Given the description of an element on the screen output the (x, y) to click on. 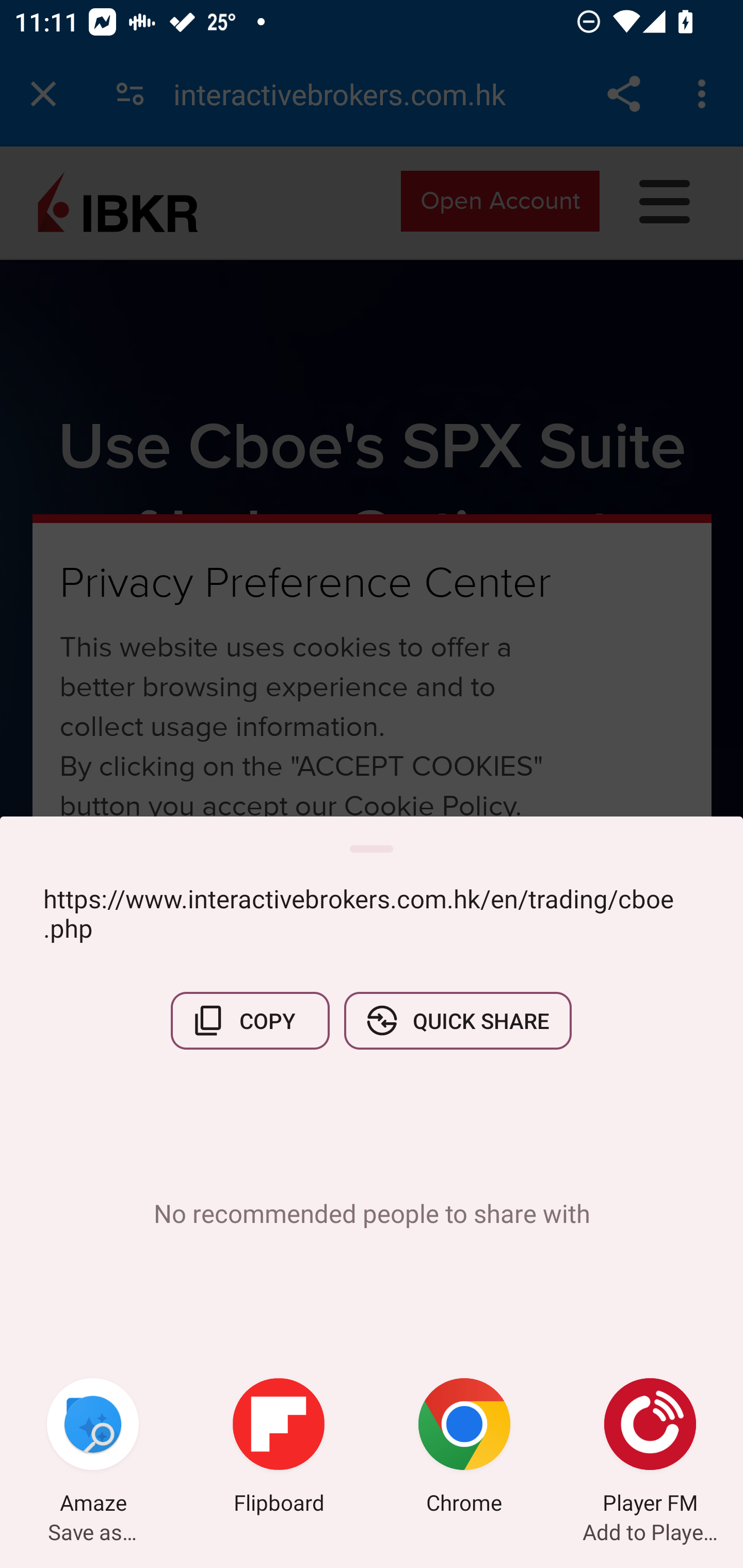
COPY (249, 1020)
QUICK SHARE (457, 1020)
Amaze Save as… (92, 1448)
Flipboard (278, 1448)
Chrome (464, 1448)
Player FM Add to Player FM (650, 1448)
